Given the description of an element on the screen output the (x, y) to click on. 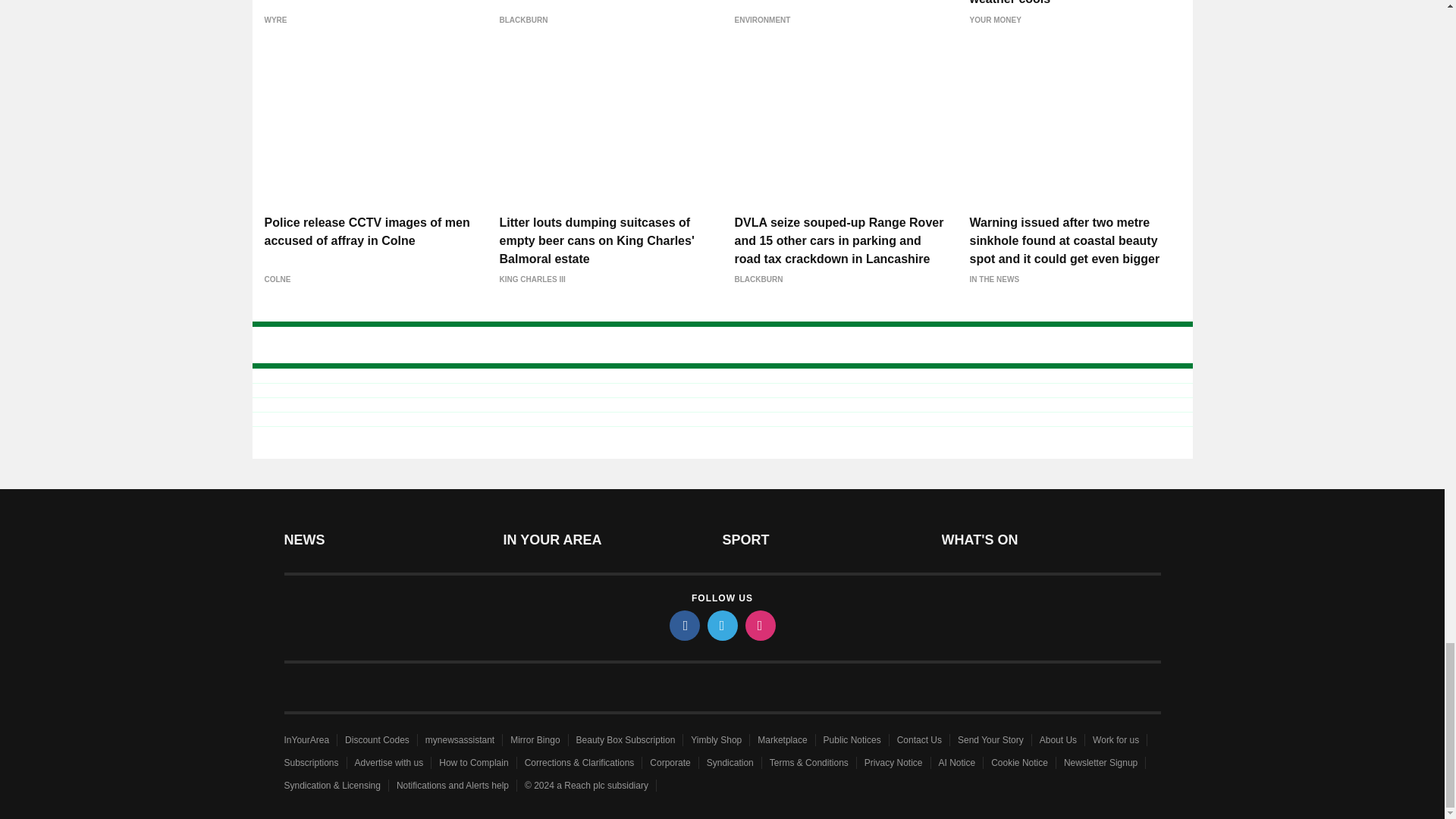
instagram (759, 625)
twitter (721, 625)
facebook (683, 625)
